Given the description of an element on the screen output the (x, y) to click on. 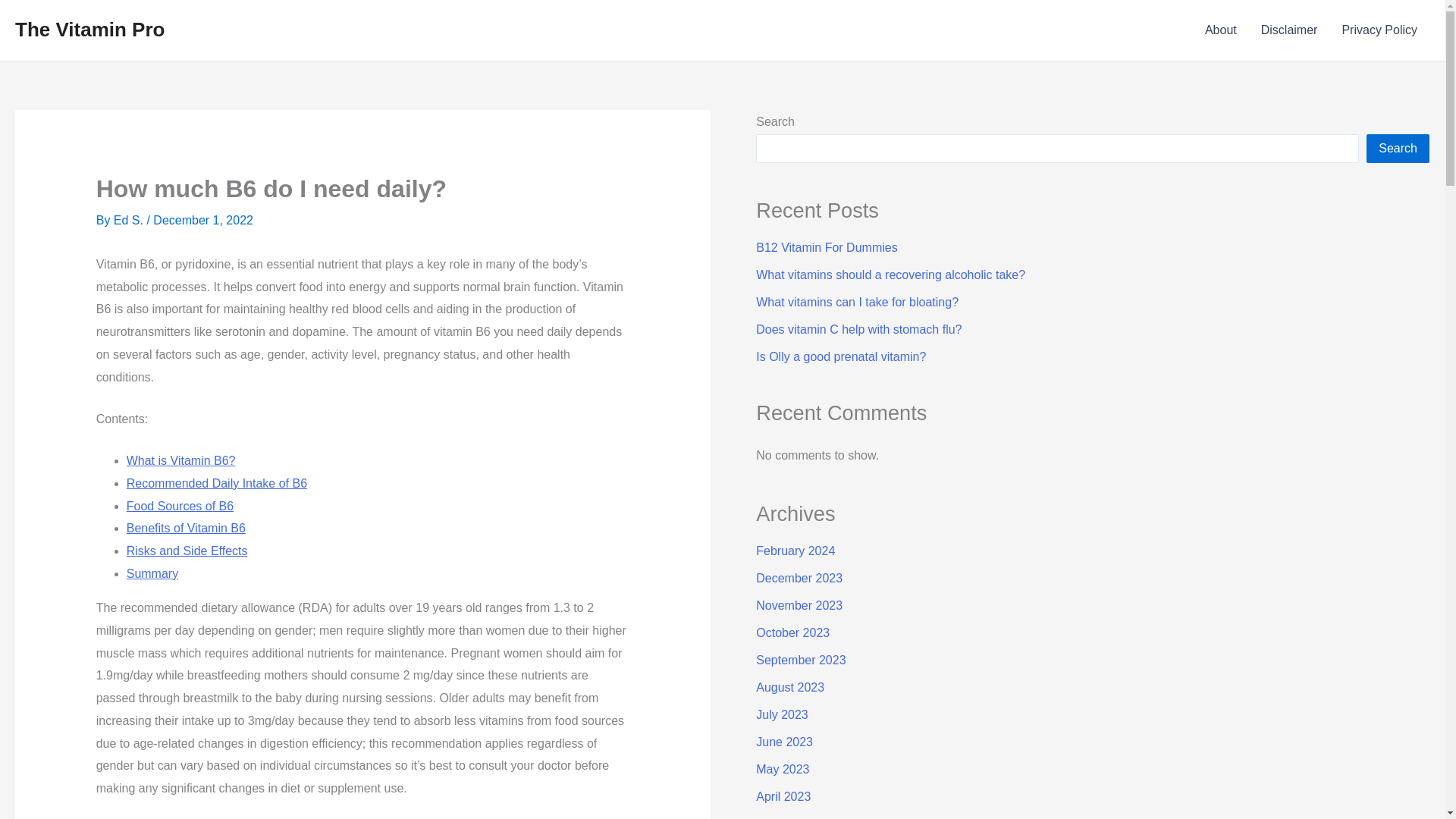
April 2023 (782, 796)
May 2023 (782, 768)
Disclaimer (1289, 30)
Summary (151, 573)
What vitamins should a recovering alcoholic take? (890, 274)
Privacy Policy (1379, 30)
Does vitamin C help with stomach flu? (857, 328)
View all posts by Ed S. (130, 219)
About (1220, 30)
Risks and Side Effects (186, 550)
Ed S. (130, 219)
June 2023 (783, 741)
Food Sources of B6 (179, 505)
July 2023 (781, 714)
Benefits of Vitamin B6 (186, 527)
